Given the description of an element on the screen output the (x, y) to click on. 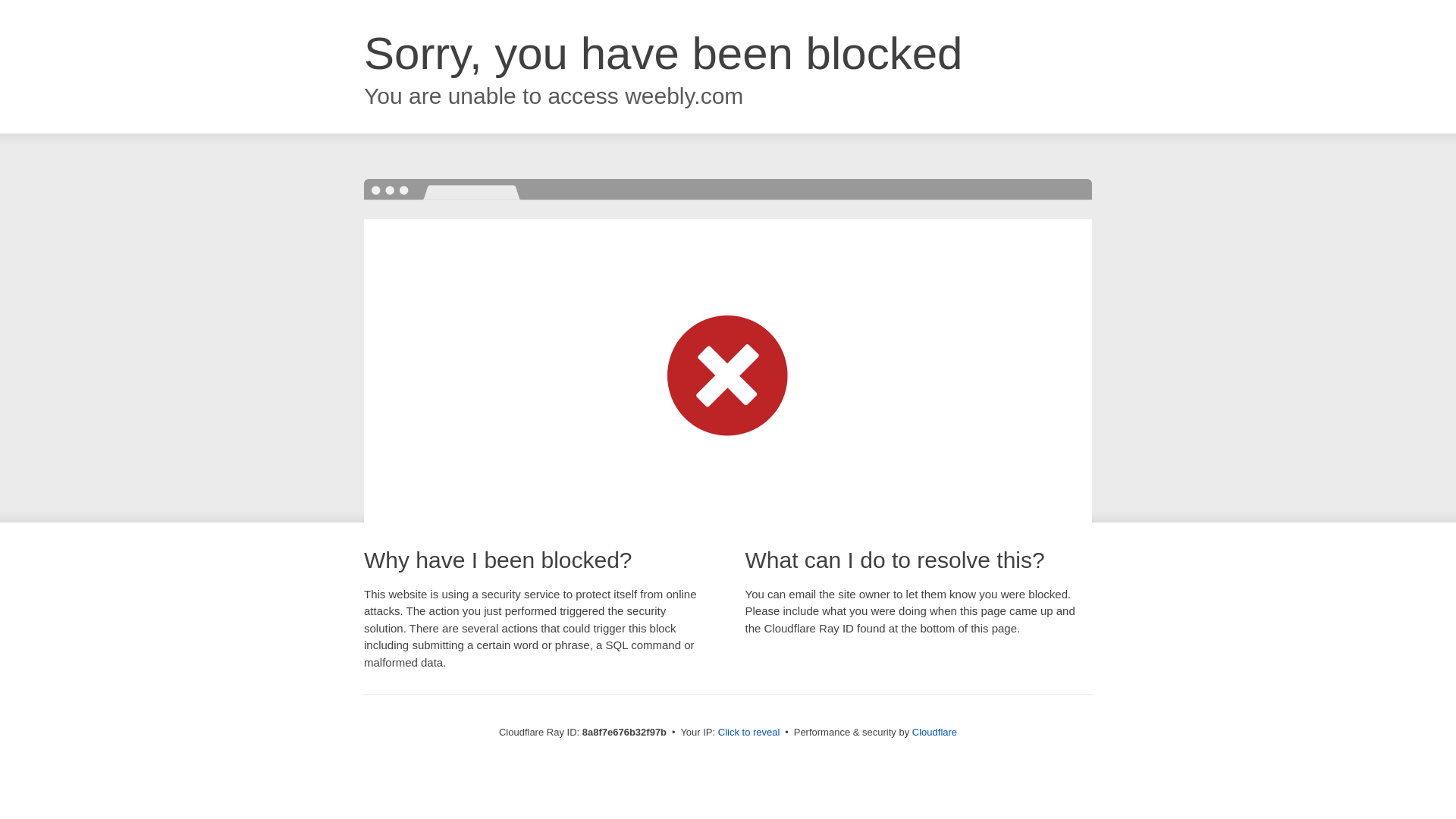
Click to reveal (748, 732)
Cloudflare (934, 731)
